Given the description of an element on the screen output the (x, y) to click on. 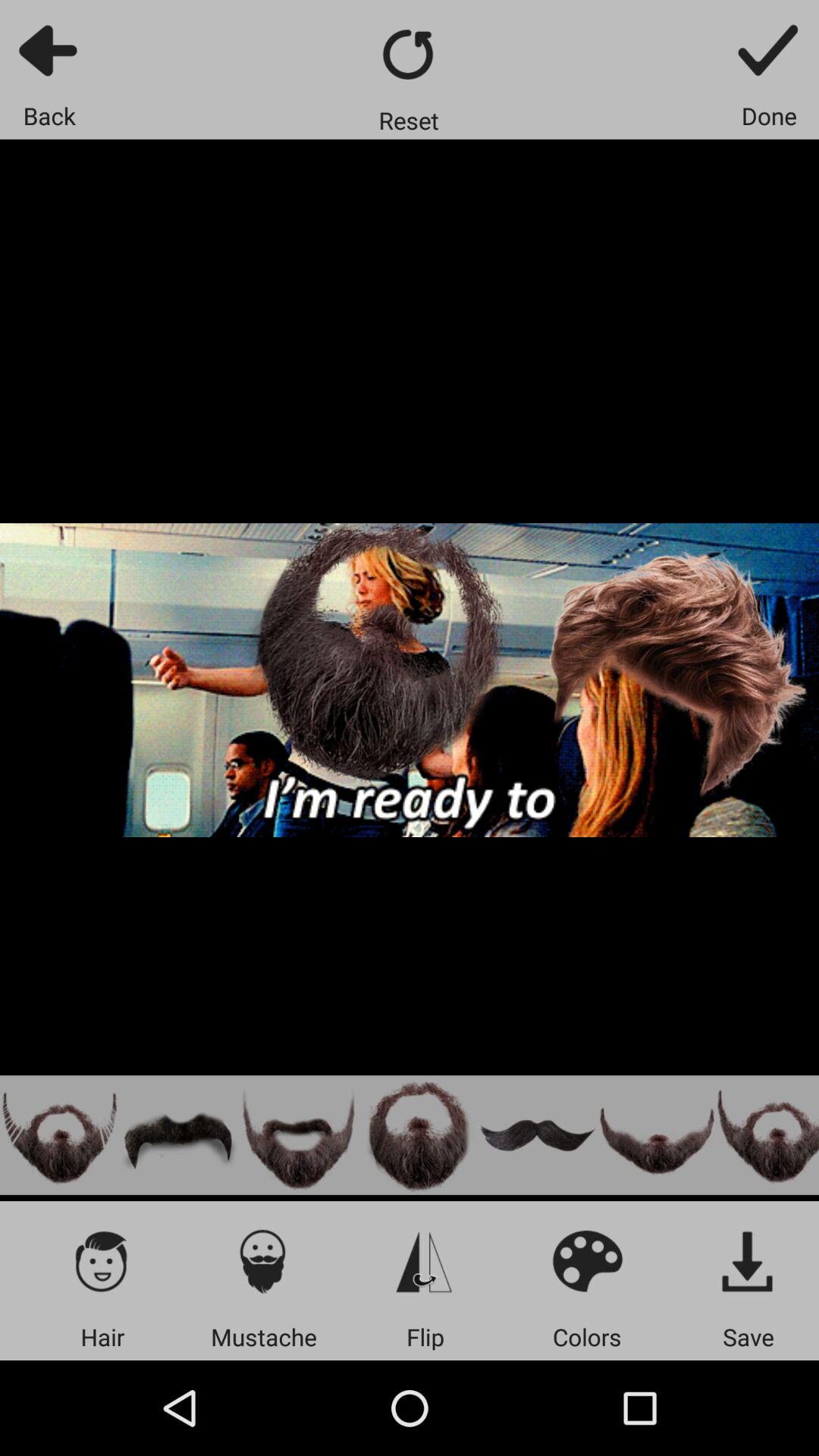
flip picture (425, 1260)
